Given the description of an element on the screen output the (x, y) to click on. 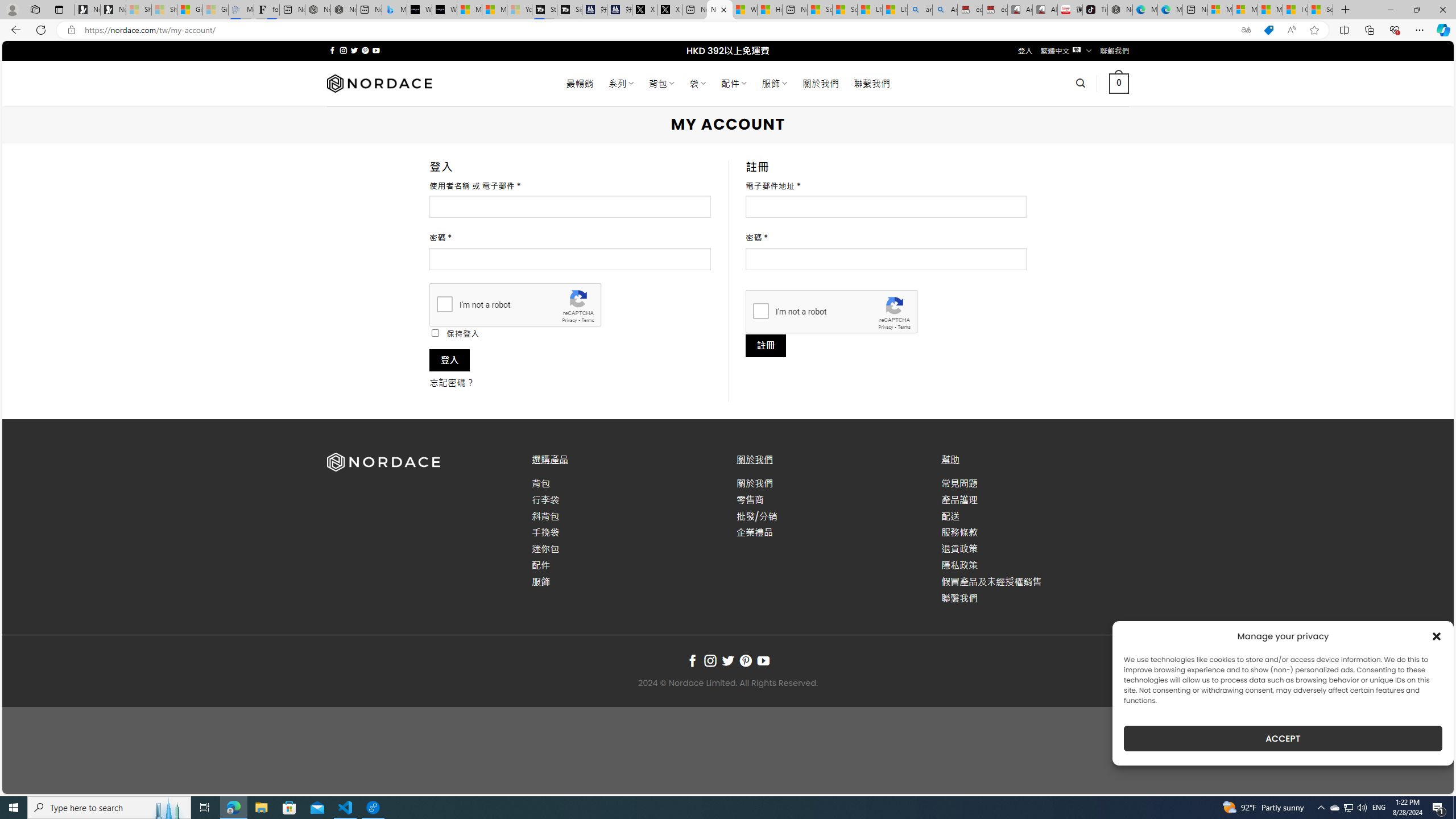
  0   (1118, 83)
Follow on YouTube (763, 660)
TikTok (1094, 9)
X (669, 9)
Amazon Echo Dot PNG - Search Images (944, 9)
I Gained 20 Pounds of Muscle in 30 Days! | Watch (1295, 9)
Nordace - #1 Japanese Best-Seller - Siena Smart Backpack (343, 9)
